Given the description of an element on the screen output the (x, y) to click on. 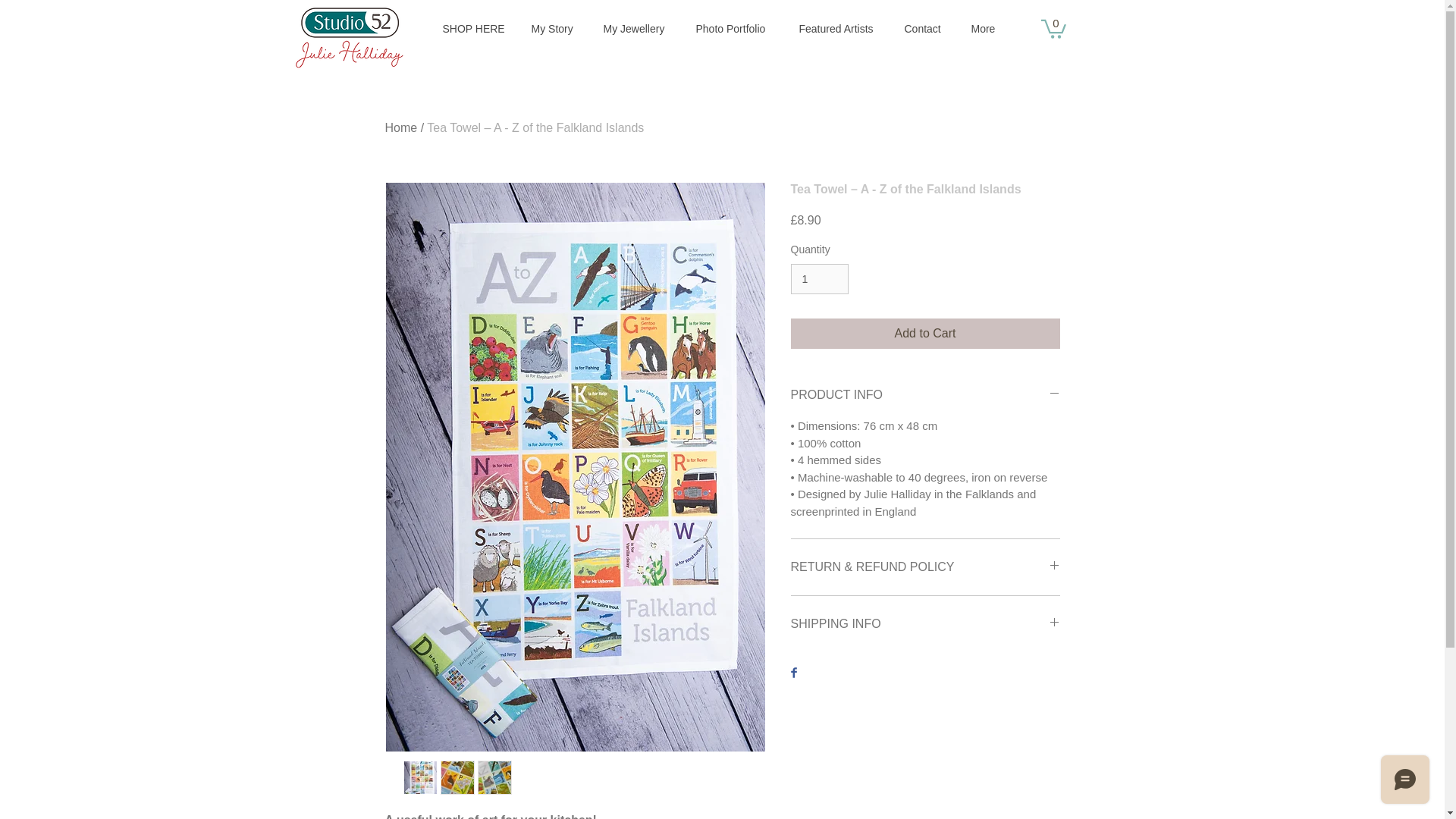
0 (1053, 27)
My Story (554, 28)
Add to Cart (924, 333)
My Jewellery (637, 28)
SHOP HERE (474, 28)
1 (818, 278)
0 (1053, 27)
Home (401, 127)
Photo Portfolio (735, 28)
PRODUCT INFO (924, 394)
Featured Artists (839, 28)
Contact (924, 28)
SHIPPING INFO (924, 623)
